Given the description of an element on the screen output the (x, y) to click on. 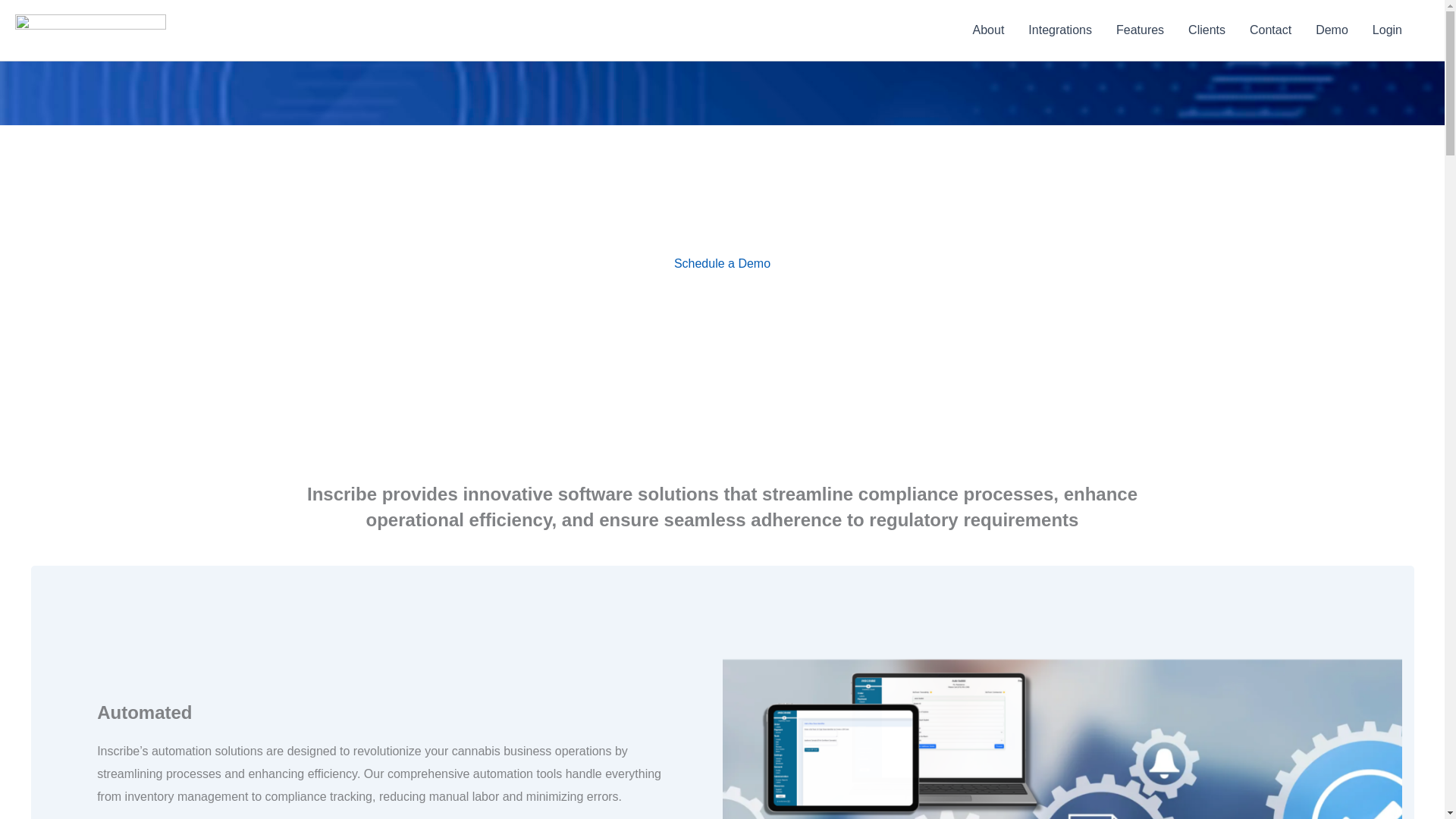
Integrations (1059, 30)
About (988, 30)
Features (1139, 30)
Contact (1270, 30)
Clients (1206, 30)
Schedule a Demo (721, 263)
Demo (1331, 30)
